Given the description of an element on the screen output the (x, y) to click on. 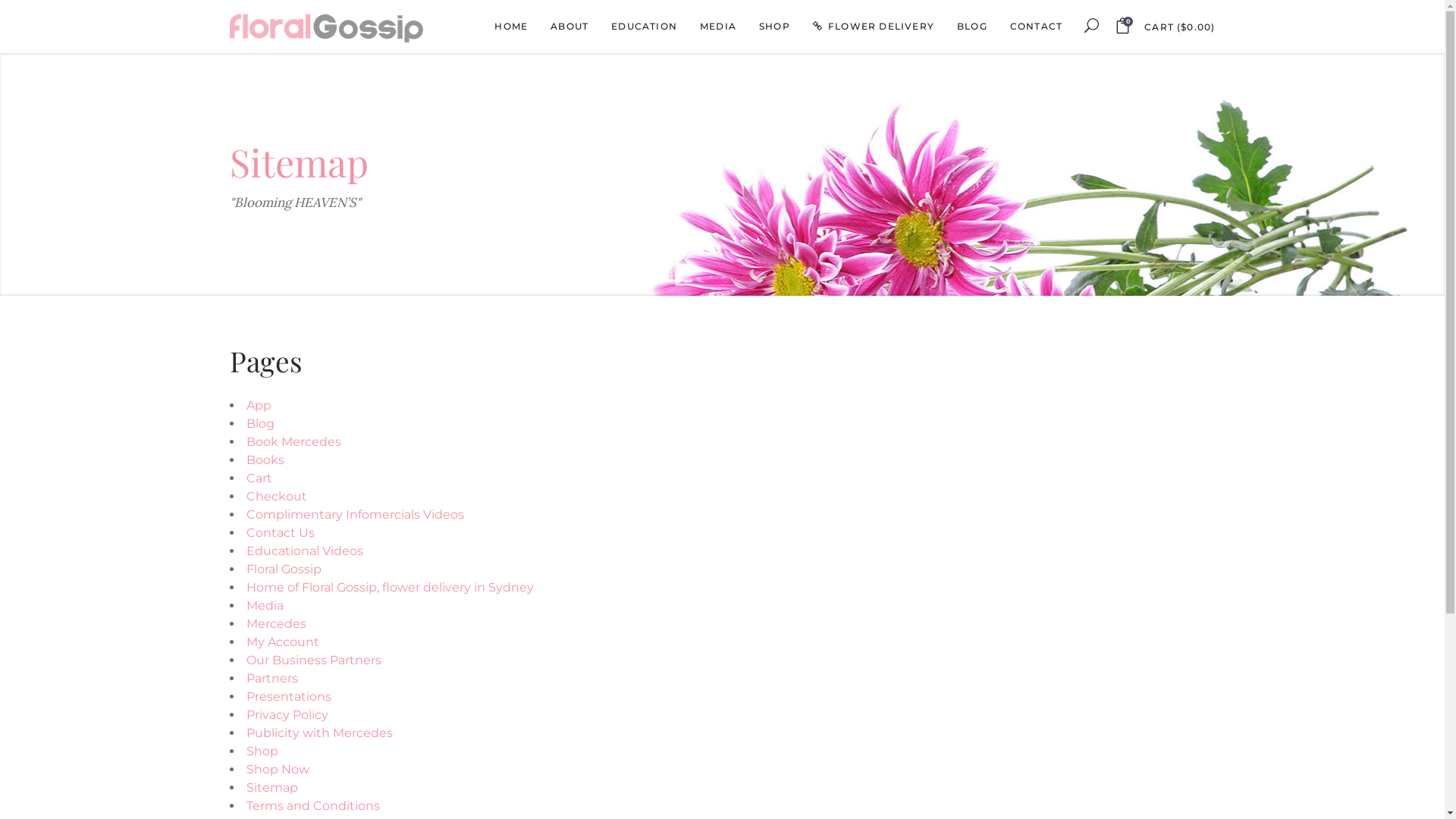
CONTACT Element type: text (1035, 26)
Shop Element type: text (261, 750)
Sitemap Element type: text (271, 787)
FLOWER DELIVERY Element type: text (873, 26)
0
CART ($0.00) Element type: text (1164, 26)
ABOUT Element type: text (569, 26)
Book Mercedes Element type: text (292, 441)
MEDIA Element type: text (717, 26)
Home of Floral Gossip, flower delivery in Sydney Element type: text (389, 587)
Checkout Element type: text (275, 496)
Cart Element type: text (258, 477)
Contact Us Element type: text (279, 532)
Blog Element type: text (259, 423)
Presentations Element type: text (287, 696)
Complimentary Infomercials Videos Element type: text (354, 514)
App Element type: text (257, 405)
HOME Element type: text (511, 26)
Mercedes Element type: text (275, 623)
Shop Now Element type: text (276, 769)
EDUCATION Element type: text (643, 26)
BLOG Element type: text (971, 26)
My Account Element type: text (281, 641)
Media Element type: text (263, 605)
Terms and Conditions Element type: text (312, 805)
Books Element type: text (264, 459)
Floral Gossip Element type: text (282, 568)
SHOP Element type: text (774, 26)
Our Business Partners Element type: text (312, 659)
Educational Videos Element type: text (303, 550)
Partners Element type: text (271, 678)
Publicity with Mercedes Element type: text (318, 732)
Privacy Policy Element type: text (286, 714)
